Given the description of an element on the screen output the (x, y) to click on. 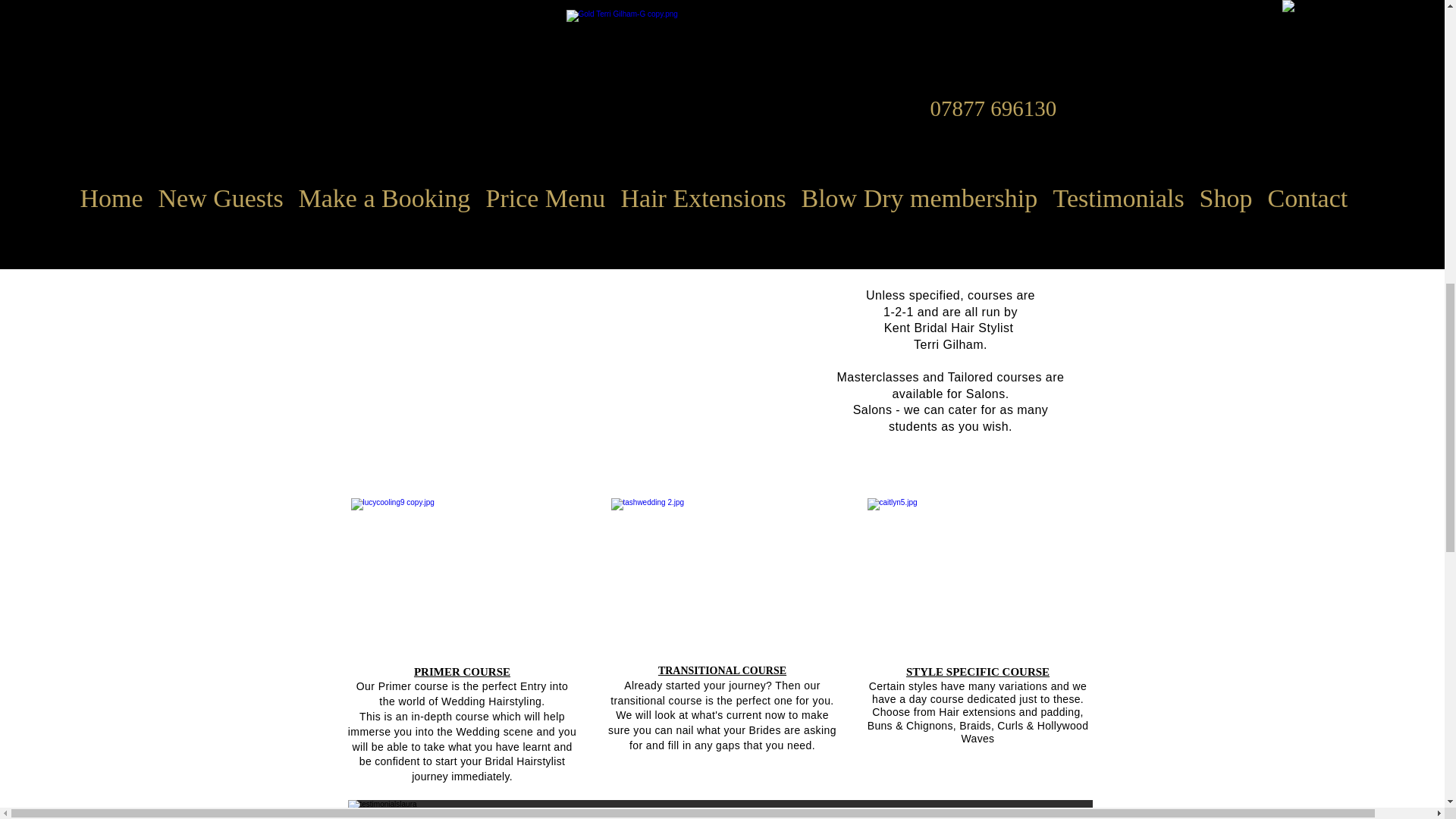
TRANSITIONAL COURSE (722, 670)
STYLE SPECIFIC COURSE (977, 671)
PRIMER COURSE (462, 671)
